Given the description of an element on the screen output the (x, y) to click on. 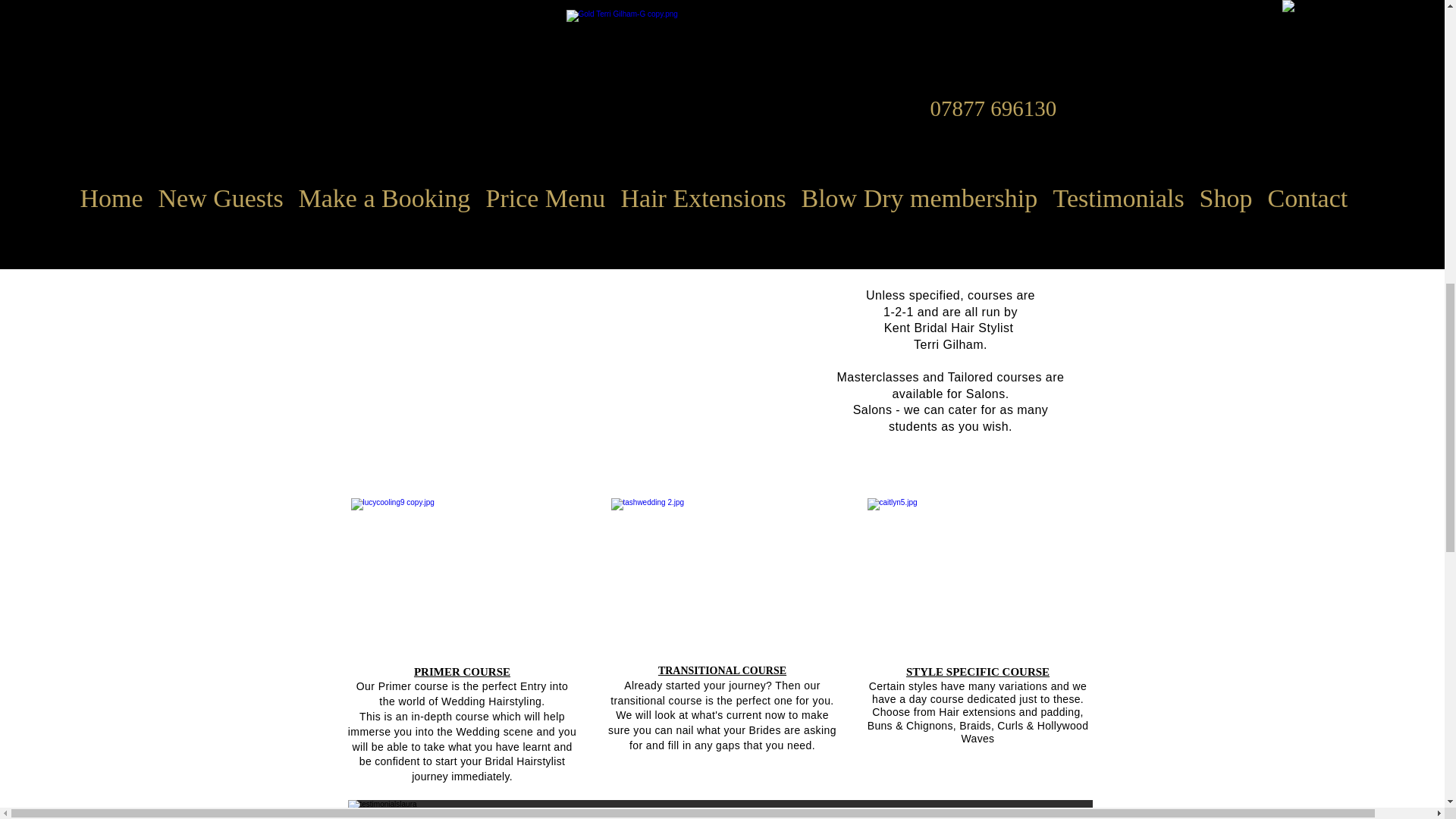
TRANSITIONAL COURSE (722, 670)
STYLE SPECIFIC COURSE (977, 671)
PRIMER COURSE (462, 671)
